Given the description of an element on the screen output the (x, y) to click on. 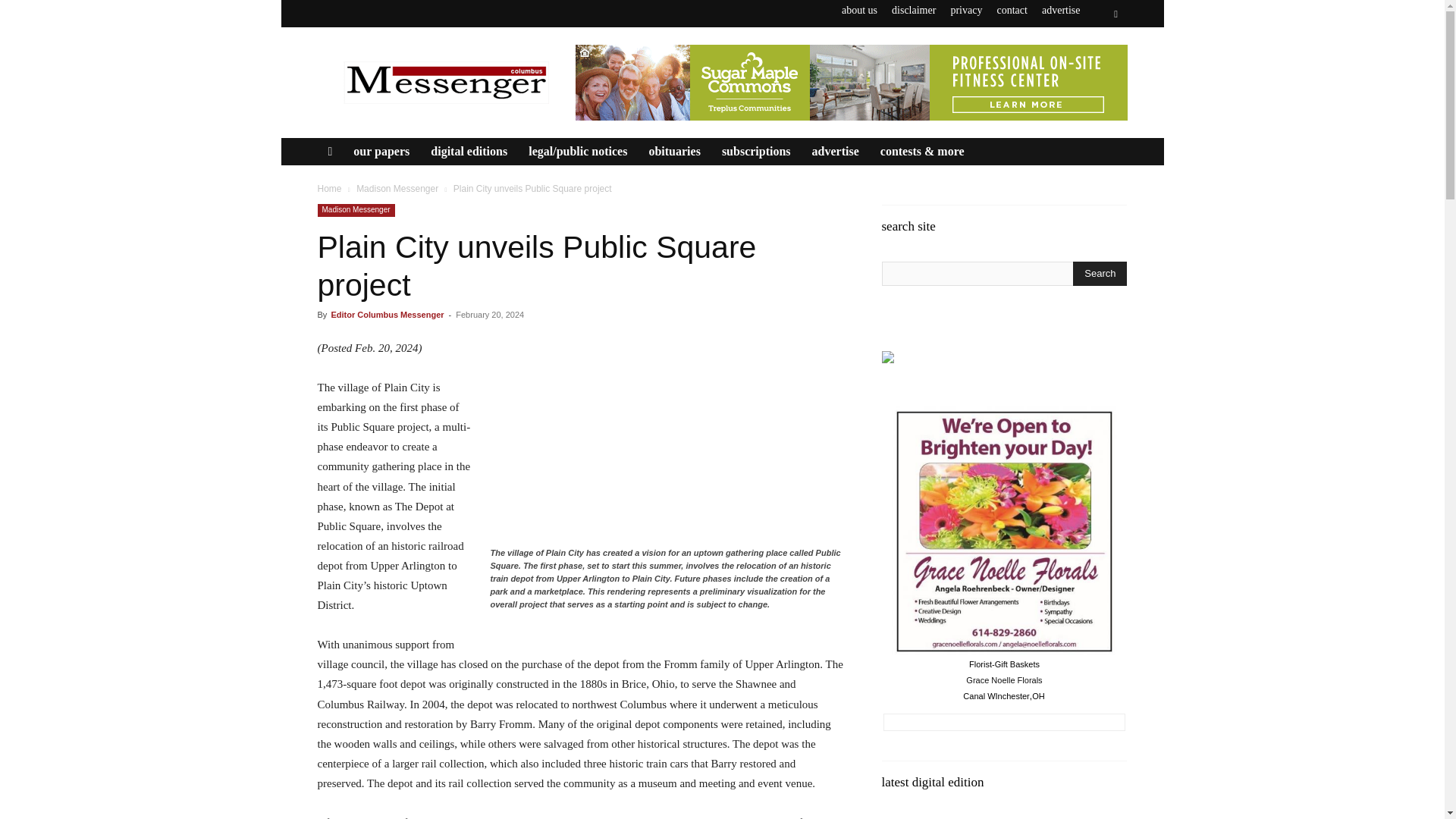
View all posts in Madison Messenger (397, 188)
about us (859, 9)
Search (1085, 70)
privacy (965, 9)
disclaimer (913, 9)
Columbus Messenger - Ohios Newspaper (445, 82)
advertise (1061, 9)
contact (1010, 9)
Search (1099, 273)
our papers (381, 151)
